Given the description of an element on the screen output the (x, y) to click on. 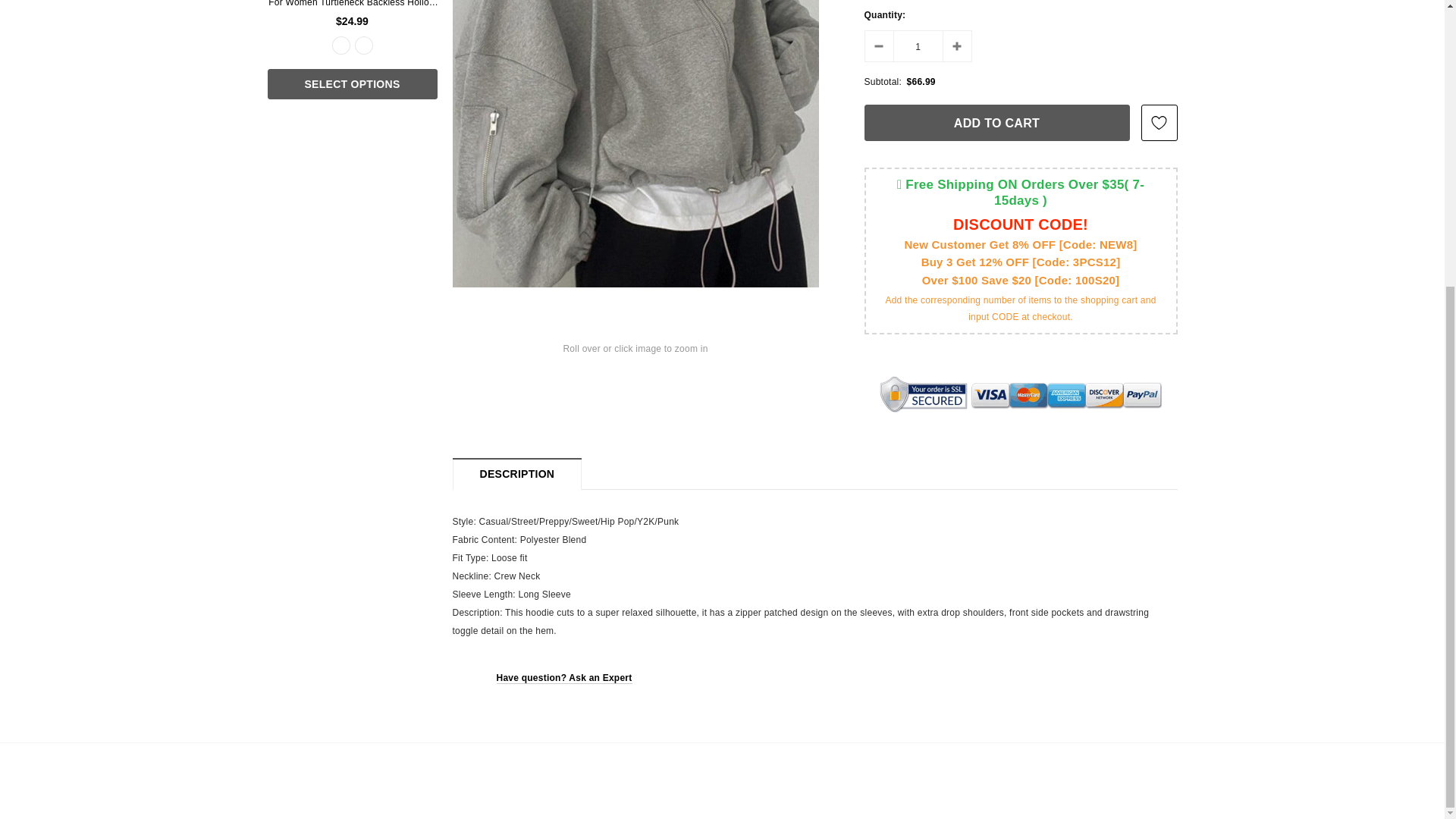
Select Options (351, 83)
1 (917, 45)
Add to Cart (996, 122)
